Given the description of an element on the screen output the (x, y) to click on. 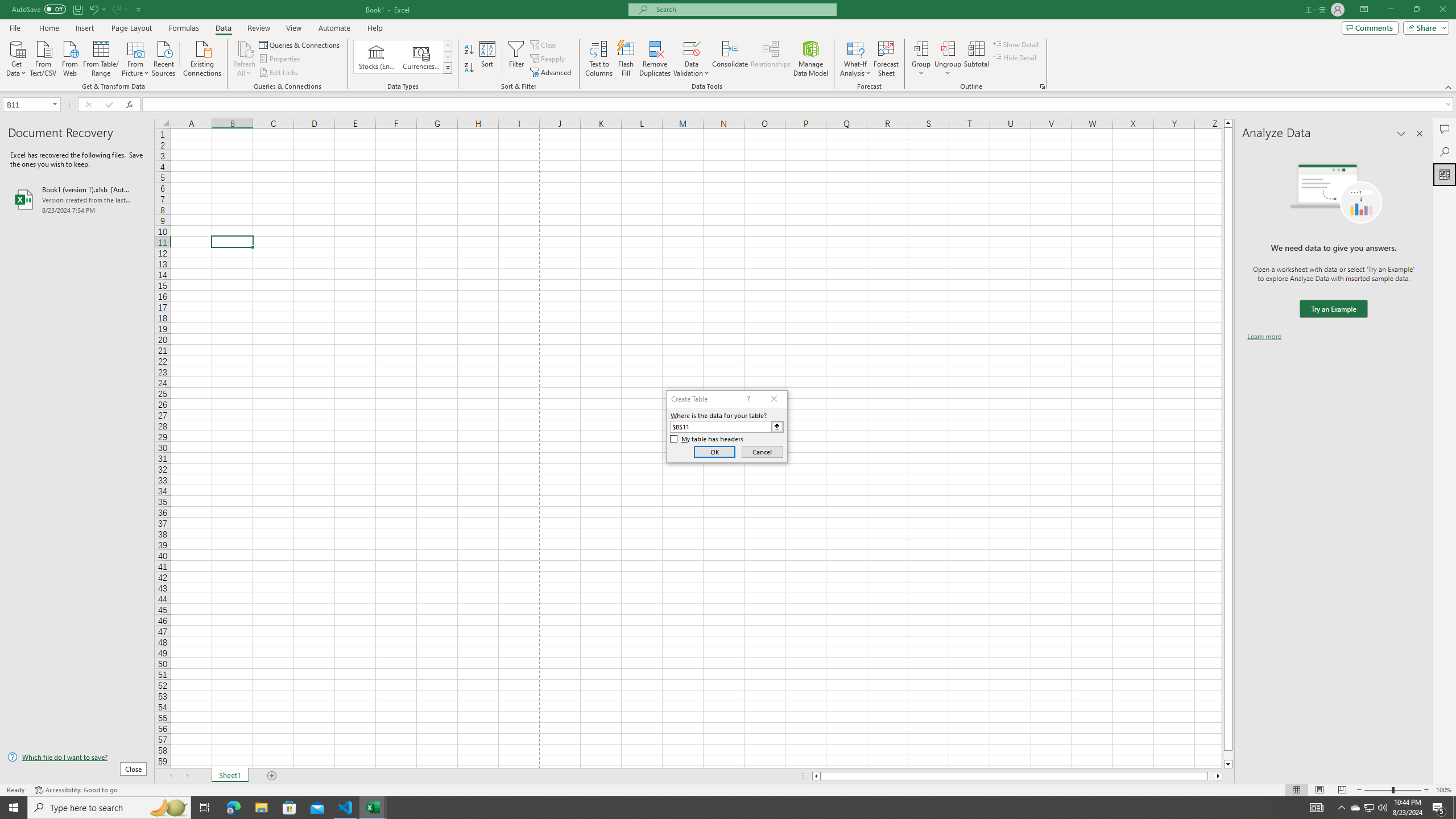
Quick Access Toolbar (77, 9)
Page right (1211, 775)
Sort A to Z (469, 49)
Class: NetUIImage (447, 68)
View (293, 28)
Learn more (1264, 336)
Column left (815, 775)
Recent Sources (163, 57)
Comments (1369, 27)
Page Break Preview (1342, 790)
Group... (921, 58)
Which file do I want to save? (77, 757)
From Table/Range (100, 57)
